Given the description of an element on the screen output the (x, y) to click on. 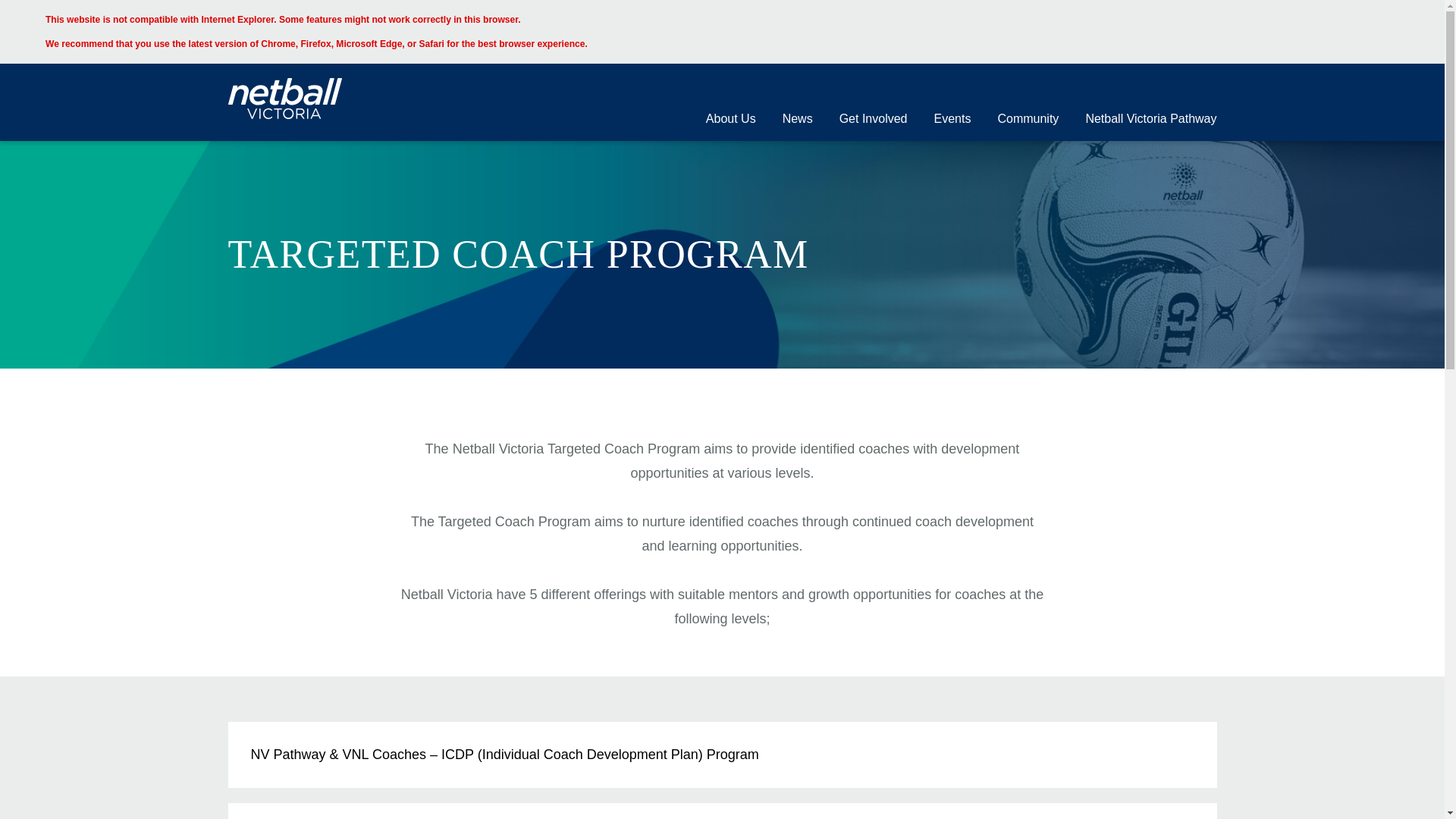
News (797, 121)
Get Involved (873, 121)
About Us (730, 121)
